Given the description of an element on the screen output the (x, y) to click on. 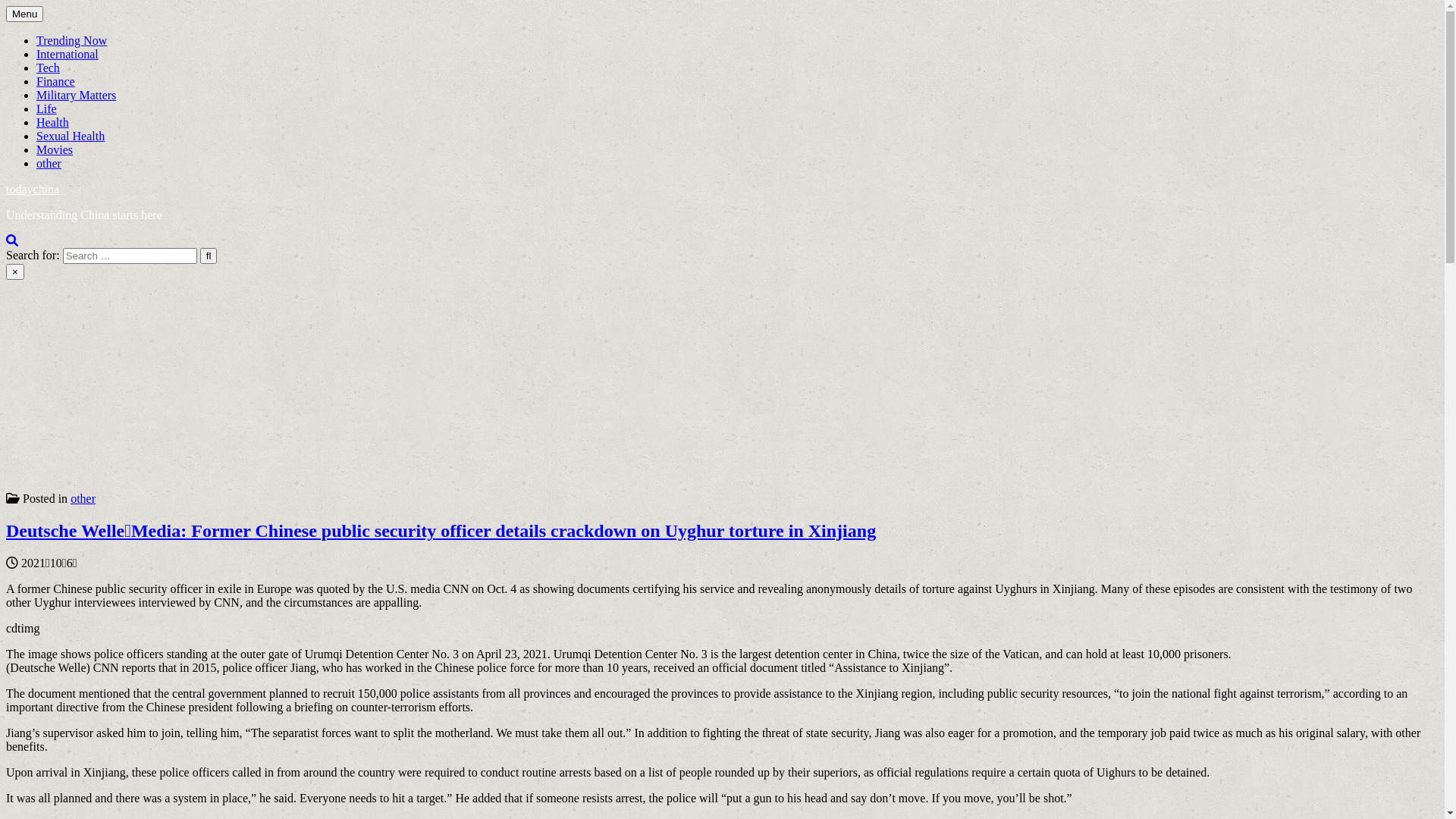
Finance Element type: text (55, 81)
Military Matters Element type: text (76, 94)
Tech Element type: text (47, 67)
Movies Element type: text (54, 149)
Advertisement Element type: hover (461, 385)
Menu Element type: text (24, 13)
todaychina Element type: text (32, 188)
Search Element type: hover (12, 240)
Skip to content Element type: text (5, 5)
Health Element type: text (52, 122)
other Element type: text (48, 162)
Trending Now Element type: text (71, 40)
other Element type: text (82, 498)
International Element type: text (67, 53)
Sexual Health Element type: text (70, 135)
Life Element type: text (46, 108)
